Given the description of an element on the screen output the (x, y) to click on. 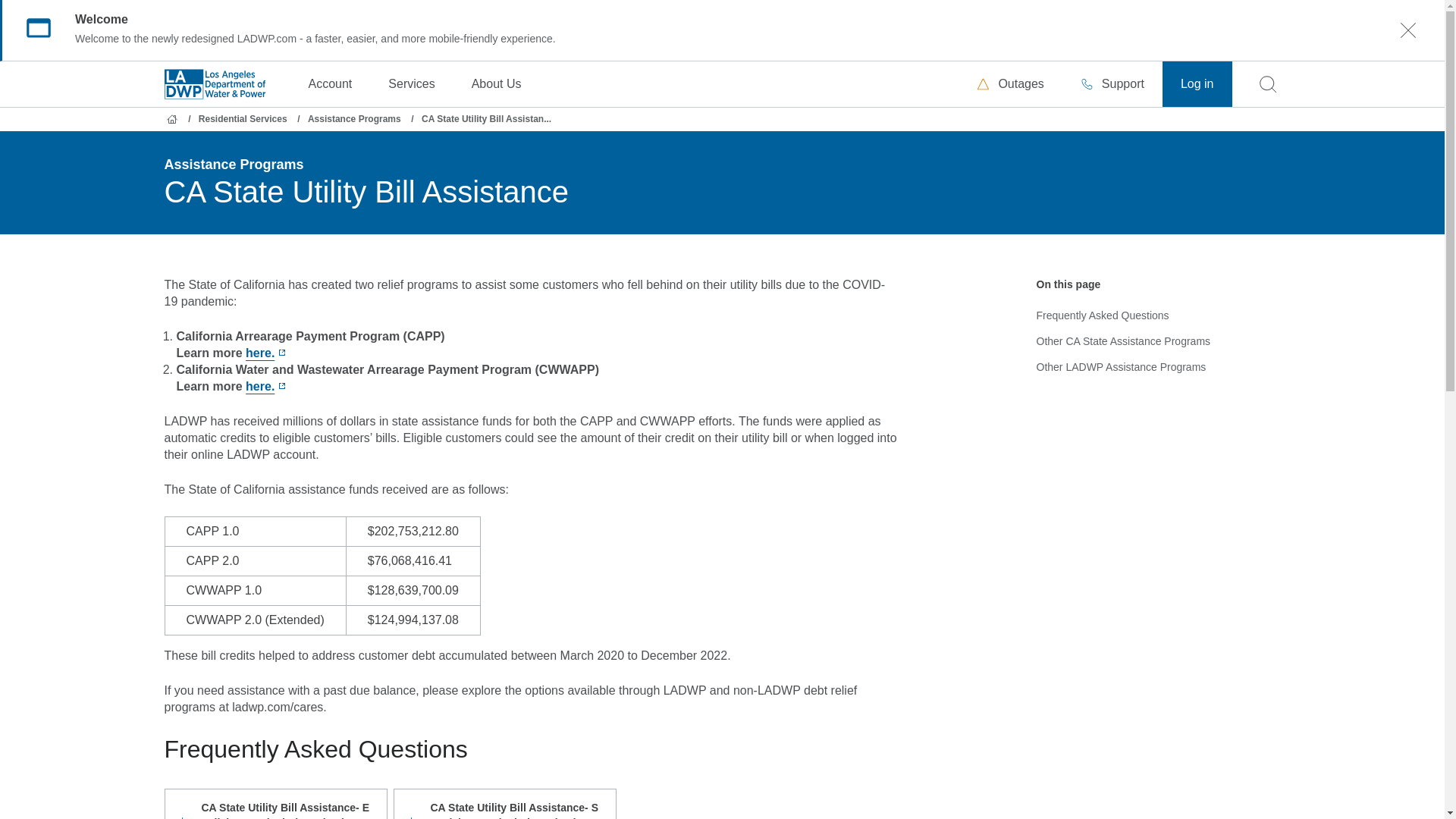
Services (410, 84)
Account (329, 84)
About Us (496, 84)
